Given the description of an element on the screen output the (x, y) to click on. 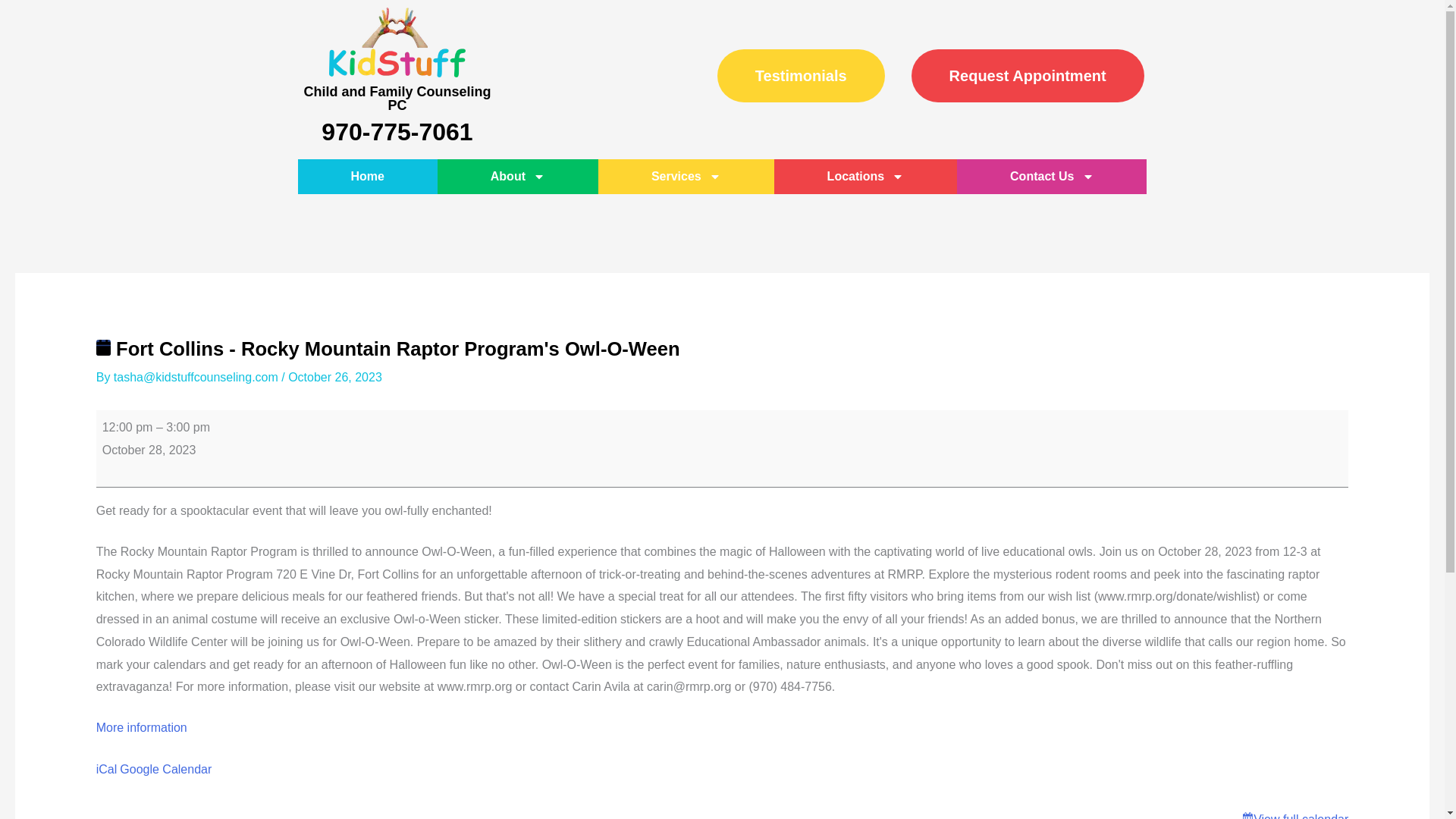
Testimonials (801, 75)
970-775-7061 (396, 131)
Services (686, 176)
Contact Us (1051, 176)
Child and Family Counseling PC (396, 98)
Locations (865, 176)
About (518, 176)
Home (366, 176)
Request Appointment (1027, 75)
